Given the description of an element on the screen output the (x, y) to click on. 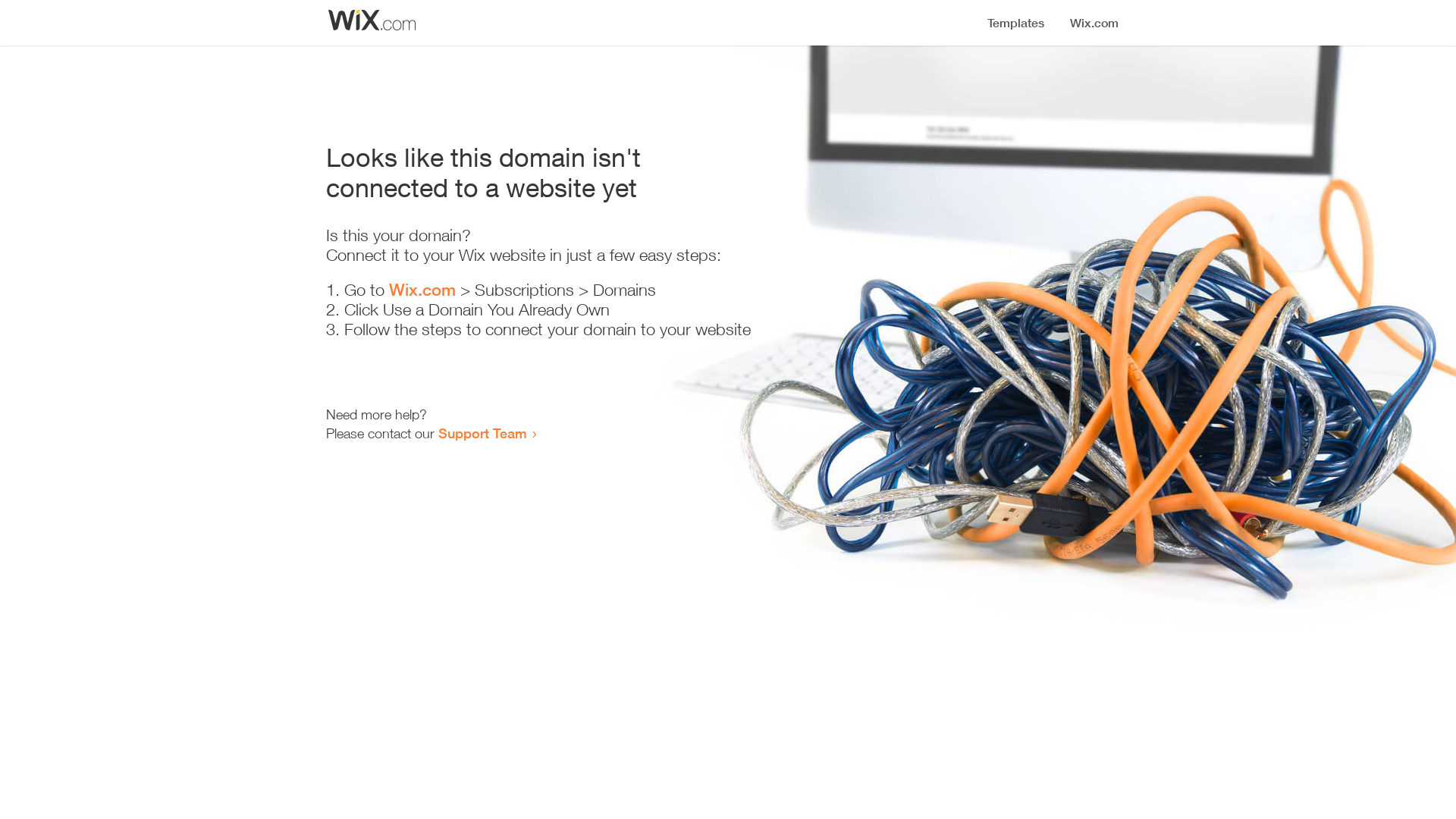
Wix.com Element type: text (422, 289)
Support Team Element type: text (482, 432)
